Given the description of an element on the screen output the (x, y) to click on. 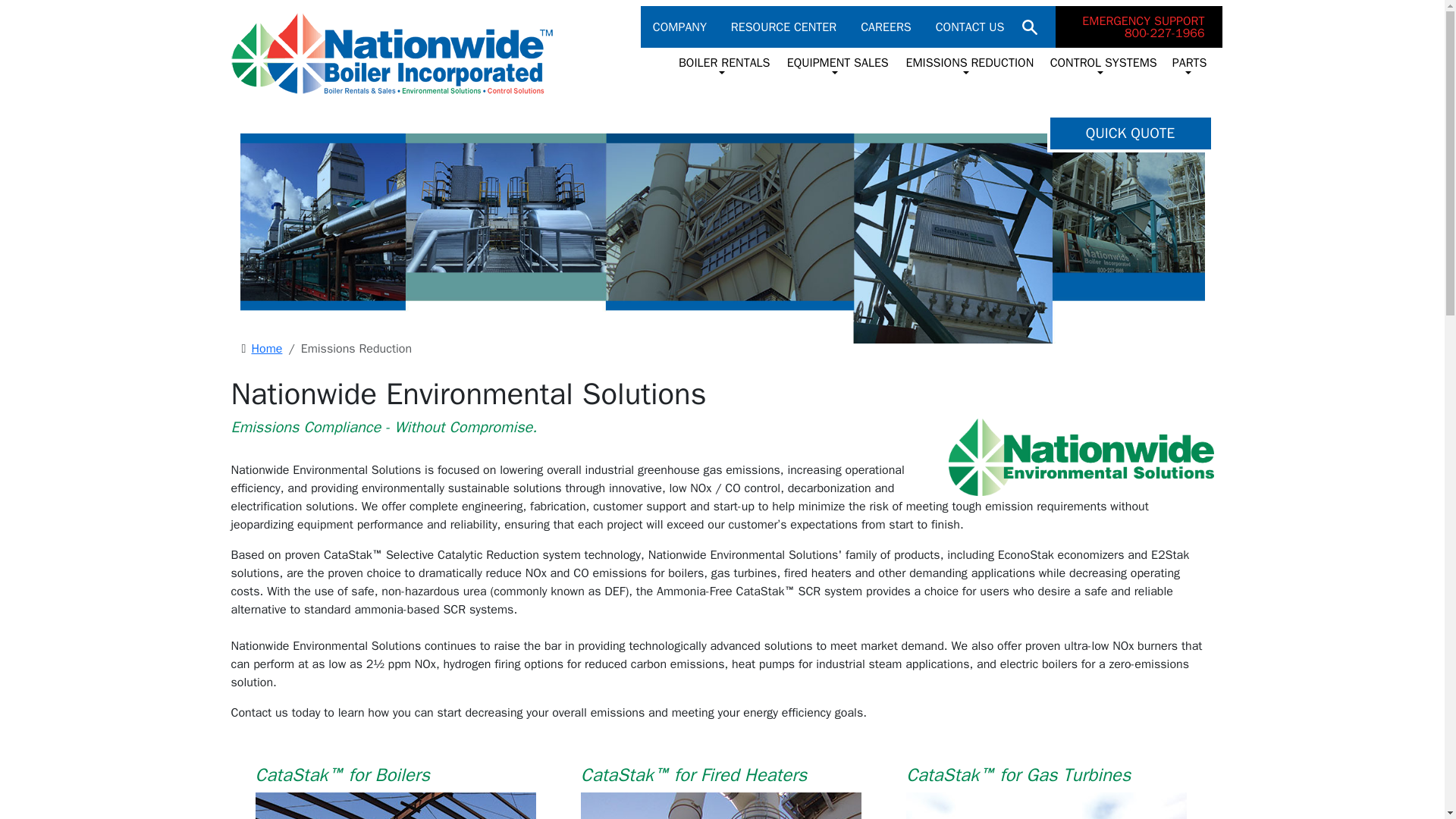
COMPANY (685, 27)
RESOURCE CENTER (789, 27)
CONTACT US (970, 27)
EMISSIONS REDUCTION (1139, 26)
CAREERS (965, 65)
BOILER RENTALS (891, 27)
EQUIPMENT SALES (722, 65)
